Given the description of an element on the screen output the (x, y) to click on. 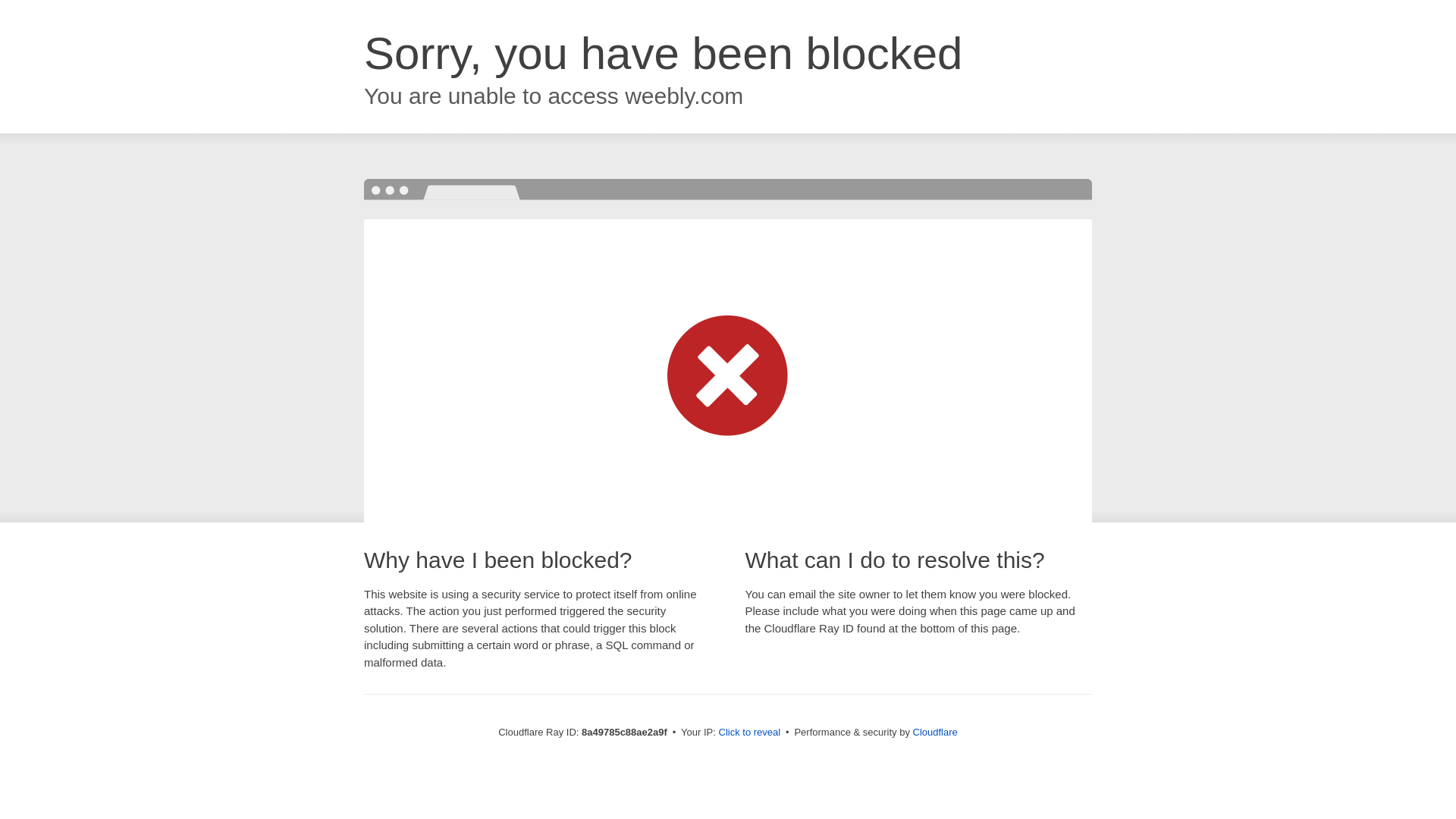
Click to reveal (749, 732)
Cloudflare (935, 731)
